Given the description of an element on the screen output the (x, y) to click on. 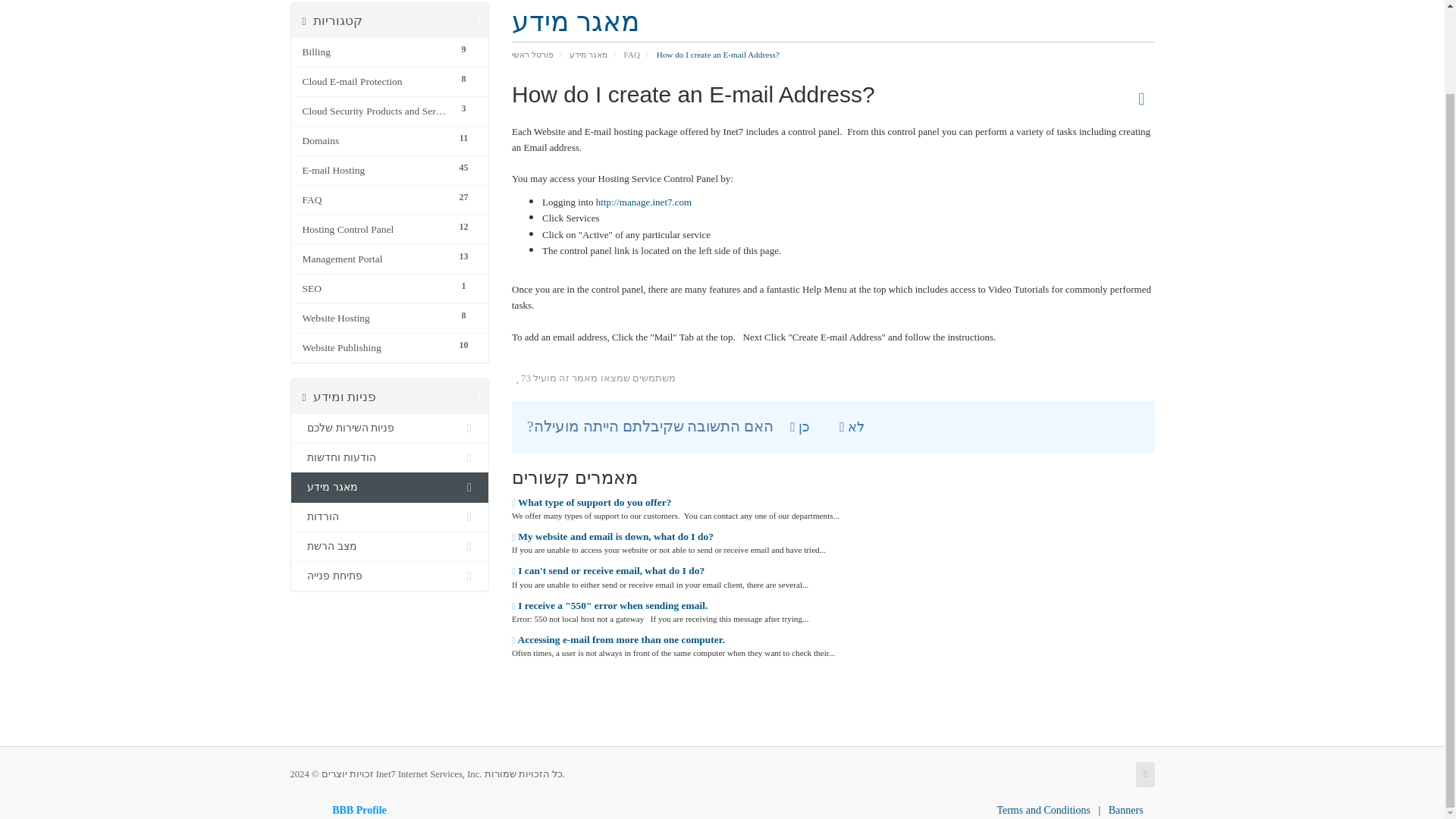
Domains (375, 140)
Cloud E-mail Protection (375, 81)
SEO (375, 289)
Billing (375, 52)
E-mail Hosting (375, 170)
FAQ (375, 199)
Hosting Control Panel (375, 229)
Cloud Security Products and Services (375, 111)
Management Portal (375, 259)
Website Hosting (375, 318)
Website Publishing (375, 348)
